Given the description of an element on the screen output the (x, y) to click on. 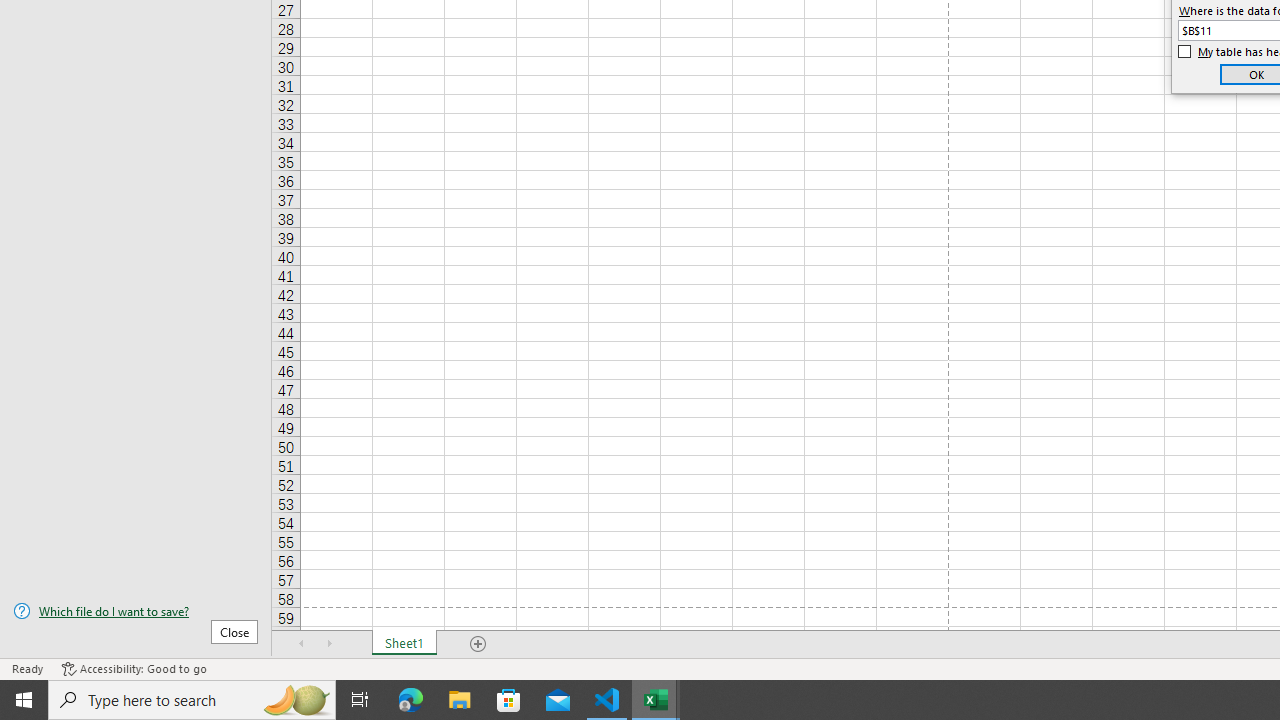
Scroll Left (302, 644)
Close (234, 631)
Which file do I want to save? (136, 611)
Sheet1 (404, 644)
Add Sheet (478, 644)
Accessibility Checker Accessibility: Good to go (134, 668)
Scroll Right (330, 644)
